Given the description of an element on the screen output the (x, y) to click on. 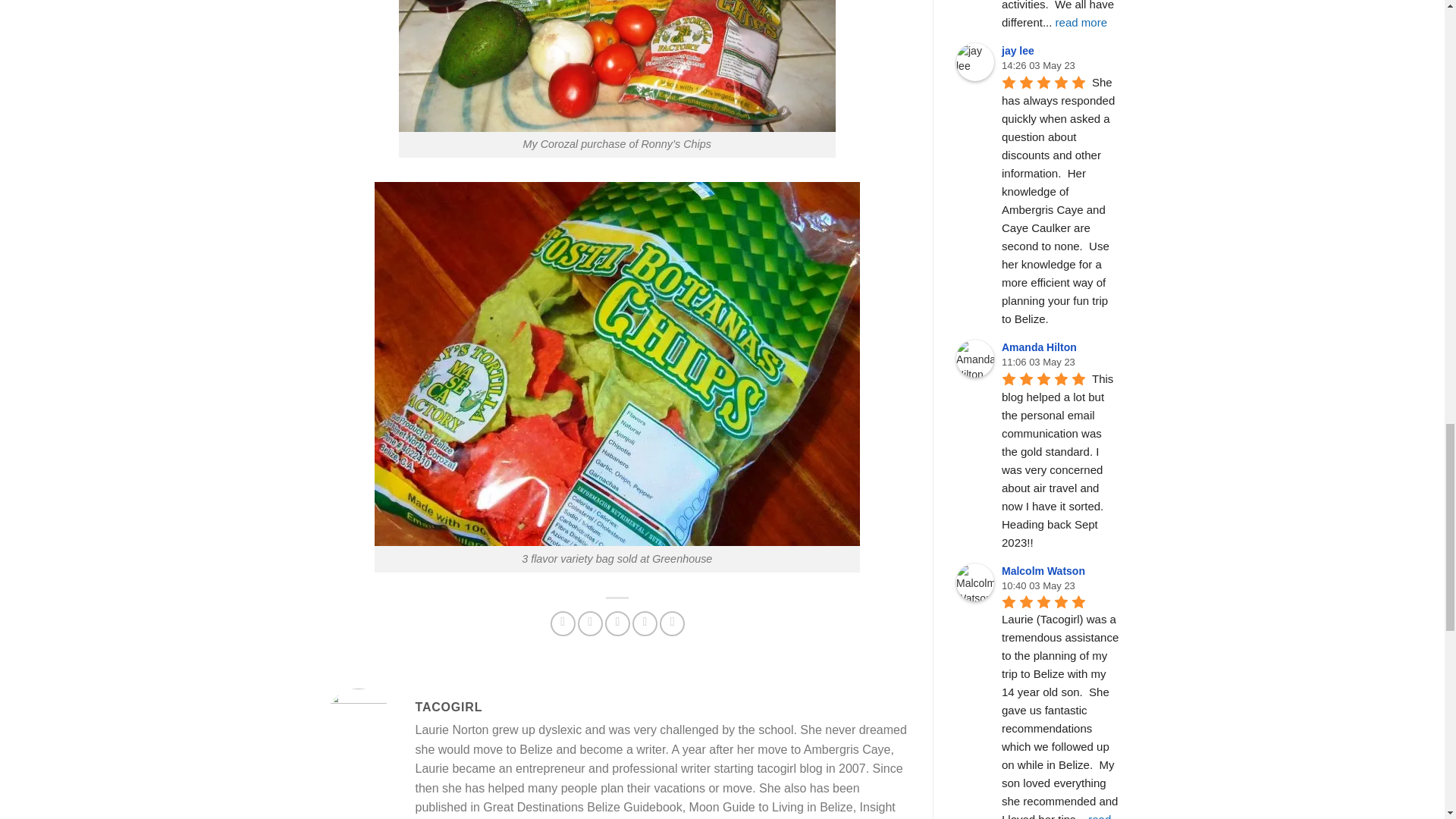
Share on Twitter (590, 623)
Share on LinkedIn (671, 623)
Pin on Pinterest (644, 623)
jay lee (975, 62)
My Corozal purchase of Ronny's Chips (616, 65)
Share on Facebook (562, 623)
Email to a Friend (617, 623)
